Given the description of an element on the screen output the (x, y) to click on. 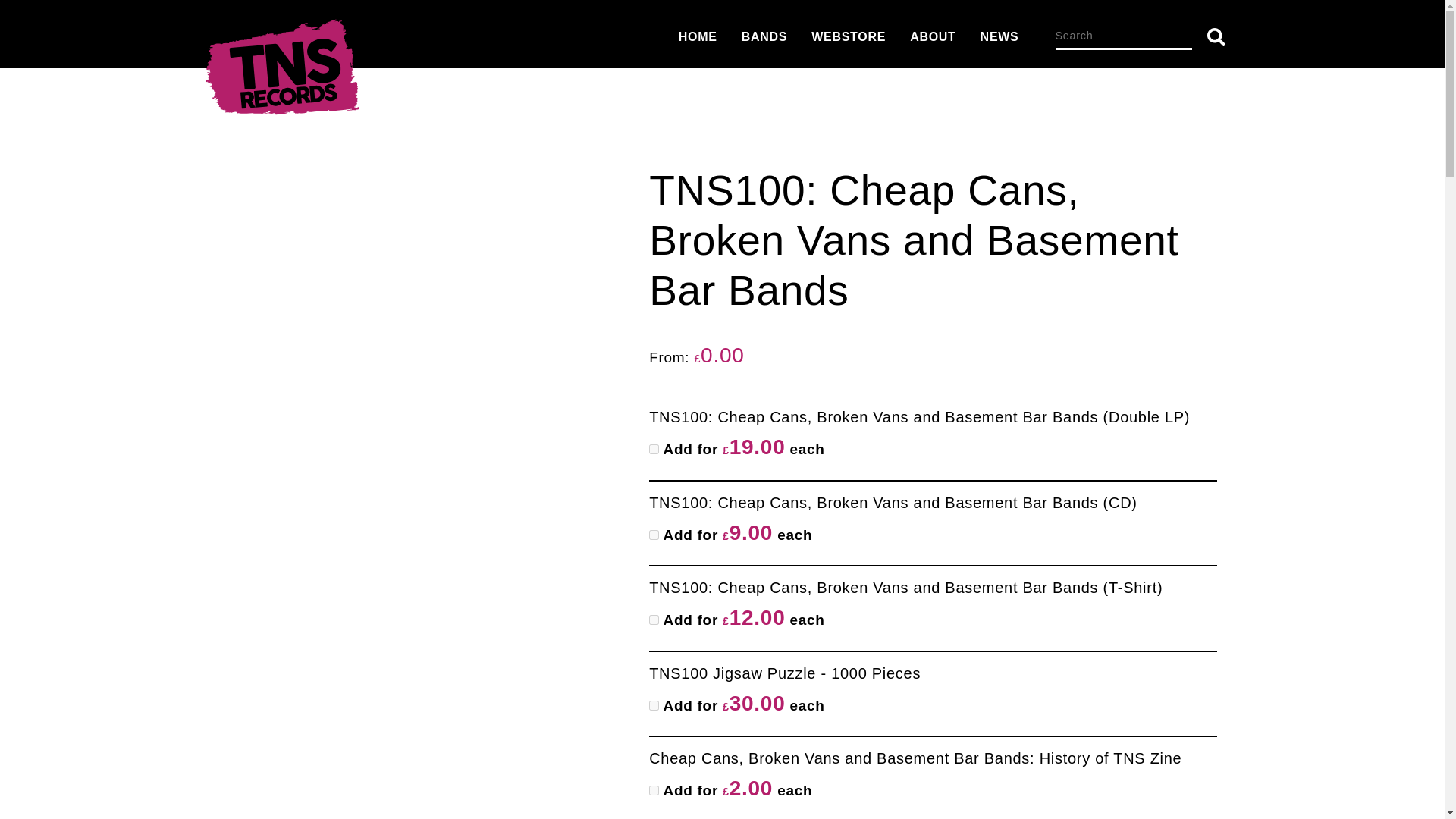
BANDS (764, 36)
ABOUT (932, 36)
NEWS (999, 36)
WEBSTORE (847, 36)
HOME (697, 36)
TNSrecords Home (280, 70)
